Given the description of an element on the screen output the (x, y) to click on. 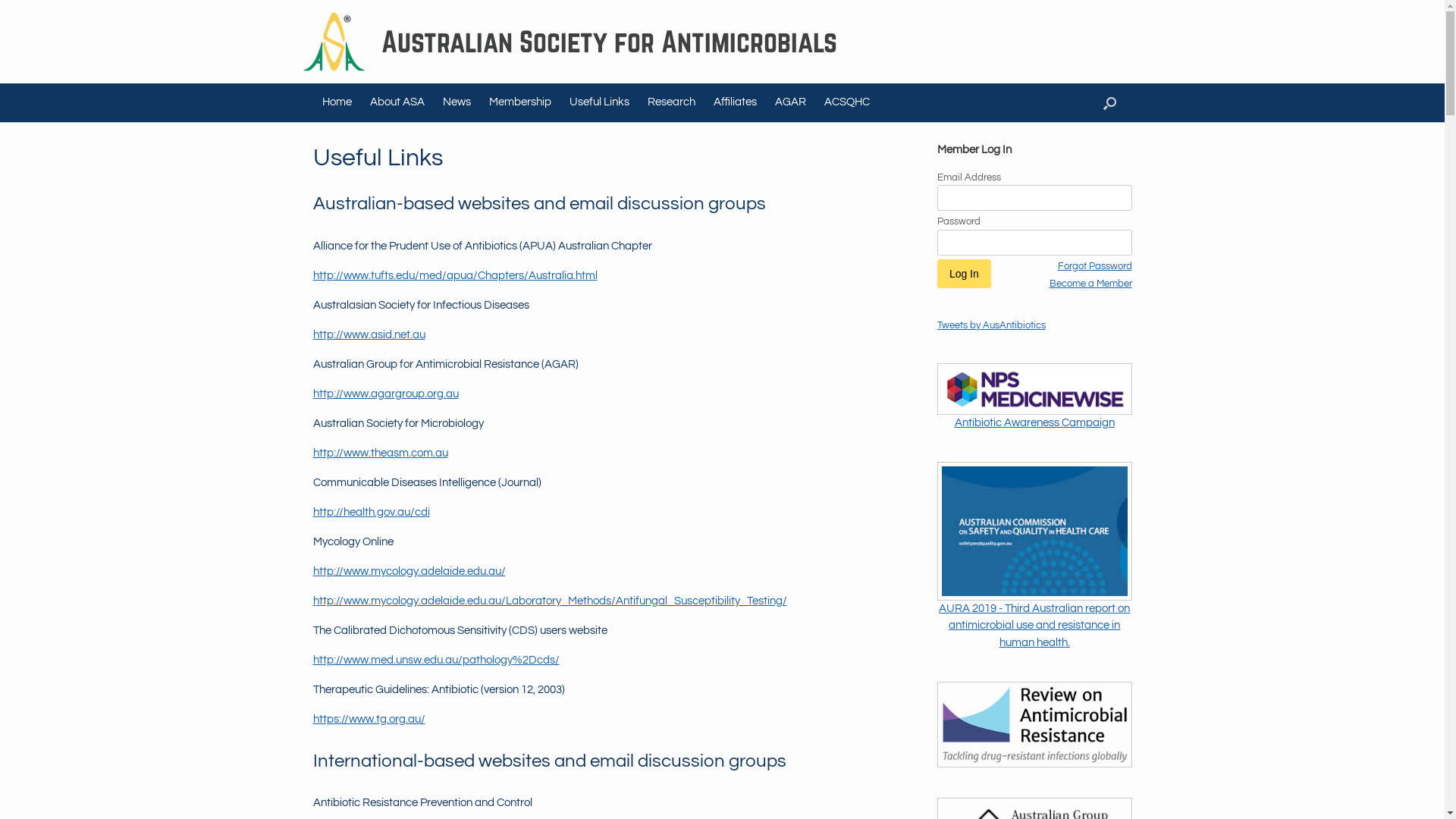
Research Element type: text (671, 102)
ACSQHC Element type: text (846, 102)
Forgot Password Element type: text (1090, 266)
http://www.agargroup.org.au Element type: text (385, 393)
Antibiotic Awareness Campaign Element type: hover (1034, 388)
http://www.theasm.com.au Element type: text (379, 452)
Tweets by AusAntibiotics Element type: text (991, 325)
News Element type: text (456, 102)
Become a Member Element type: text (1090, 283)
http://www.asid.net.au Element type: text (368, 334)
http://health.gov.au/cdi Element type: text (370, 511)
http://www.med.unsw.edu.au/pathology%2Dcds/ Element type: text (435, 659)
Useful Links Element type: text (598, 102)
Antibiotic Awareness Campaign Element type: text (1034, 422)
Affiliates Element type: text (734, 102)
Log In Element type: text (964, 273)
Review on Antimicrobial Resistance Element type: hover (1034, 724)
Australian Society for Antimicrobials Element type: text (569, 41)
https://www.tg.org.au/ Element type: text (368, 718)
About ASA Element type: text (396, 102)
http://www.tufts.edu/med/apua/Chapters/Australia.html Element type: text (454, 275)
Home Element type: text (336, 102)
Membership Element type: text (519, 102)
http://www.mycology.adelaide.edu.au/ Element type: text (408, 571)
AGAR Element type: text (790, 102)
